Given the description of an element on the screen output the (x, y) to click on. 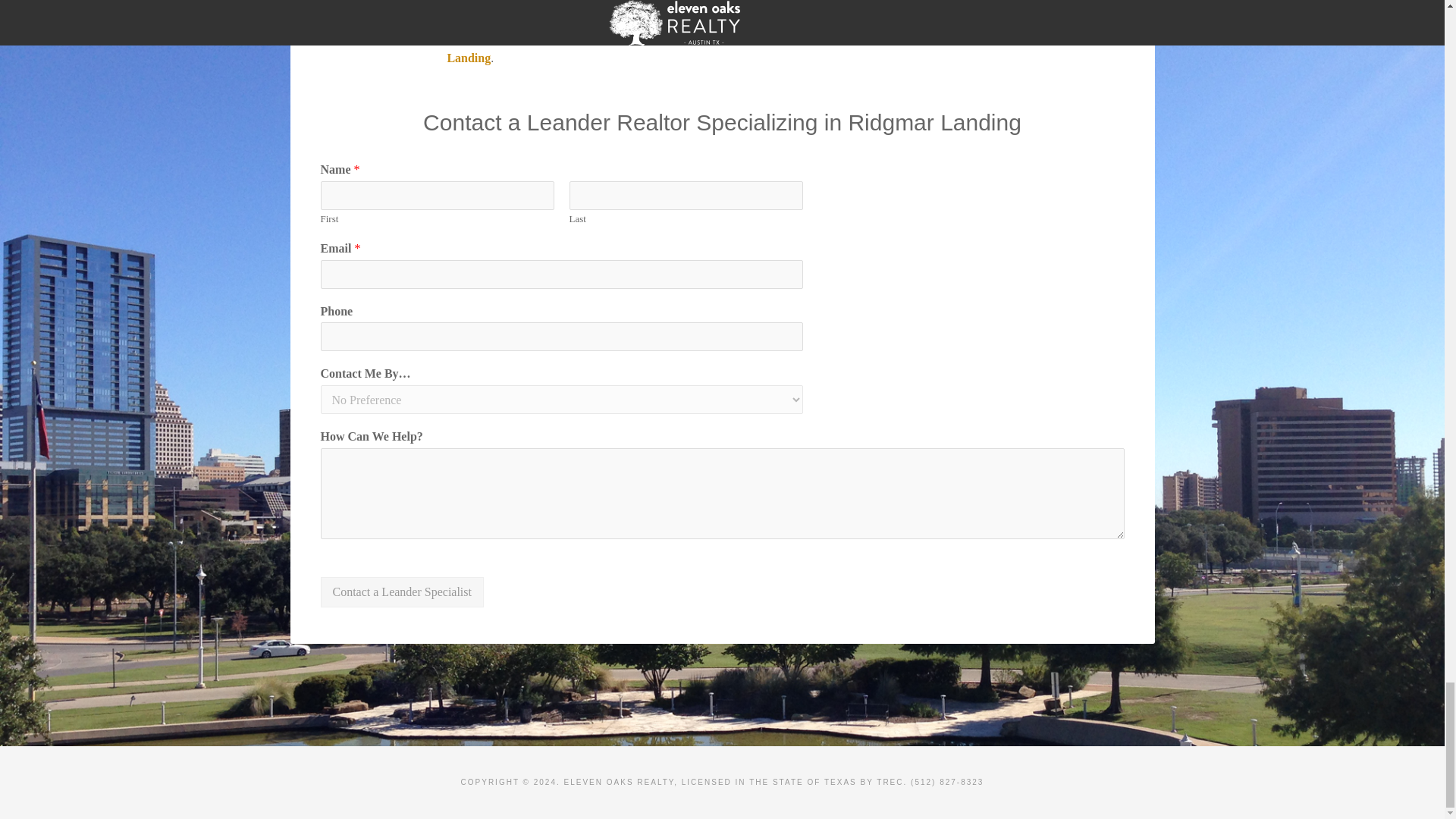
Buying a Home in Ridgmar Landing (718, 38)
Selling a Home in Ridgmar Landing (712, 47)
Contact a Leander Specialist (401, 592)
